Given the description of an element on the screen output the (x, y) to click on. 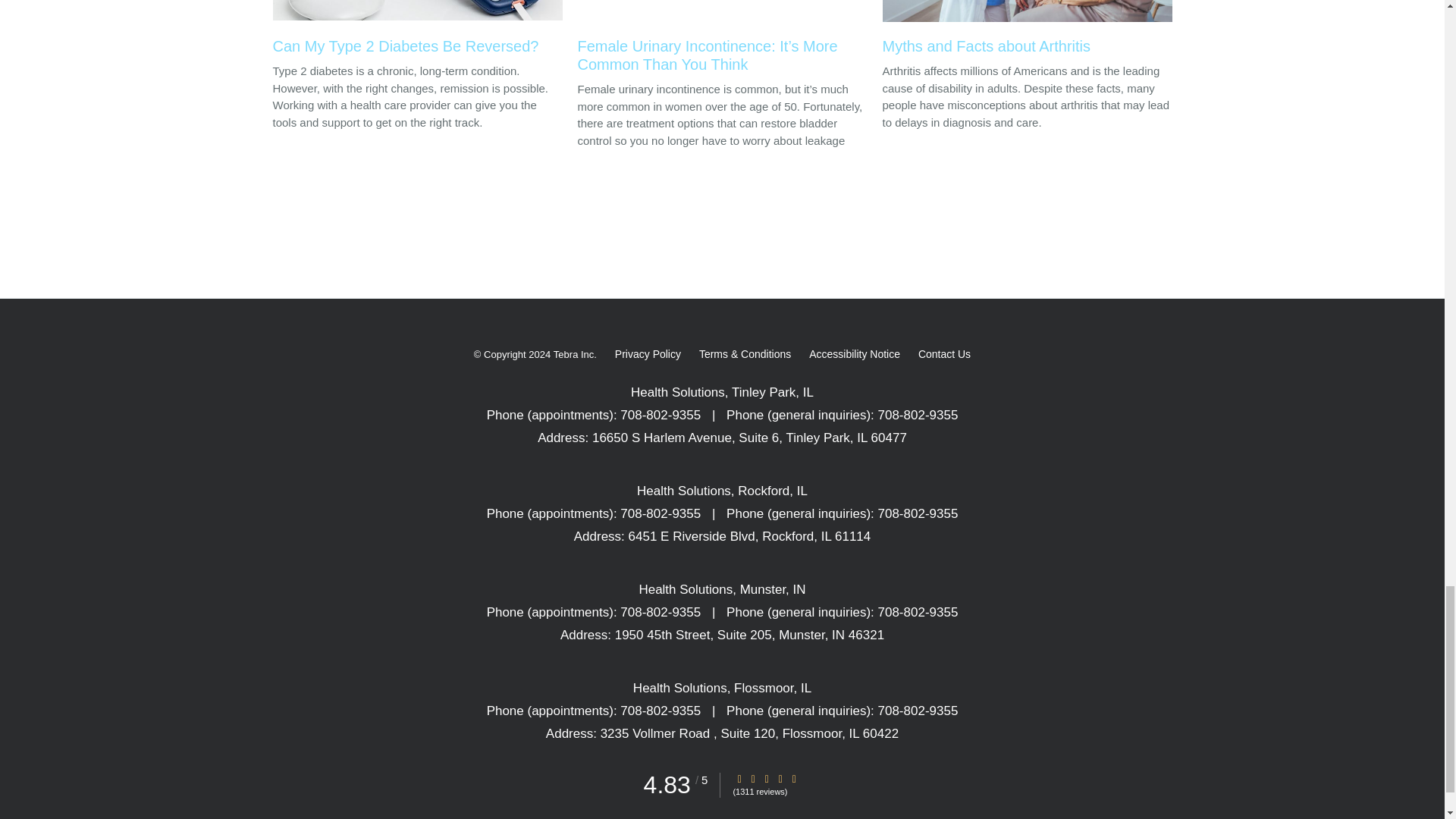
Can My Type 2 Diabetes Be Reversed? (417, 31)
Star Rating (766, 778)
Accessibility Notice (854, 354)
Contact Us (944, 354)
Tebra Inc (573, 354)
Myths and Facts about Arthritis (1027, 31)
Privacy Policy (647, 354)
Star Rating (780, 778)
Star Rating (794, 778)
Star Rating (753, 778)
Star Rating (738, 778)
